Given the description of an element on the screen output the (x, y) to click on. 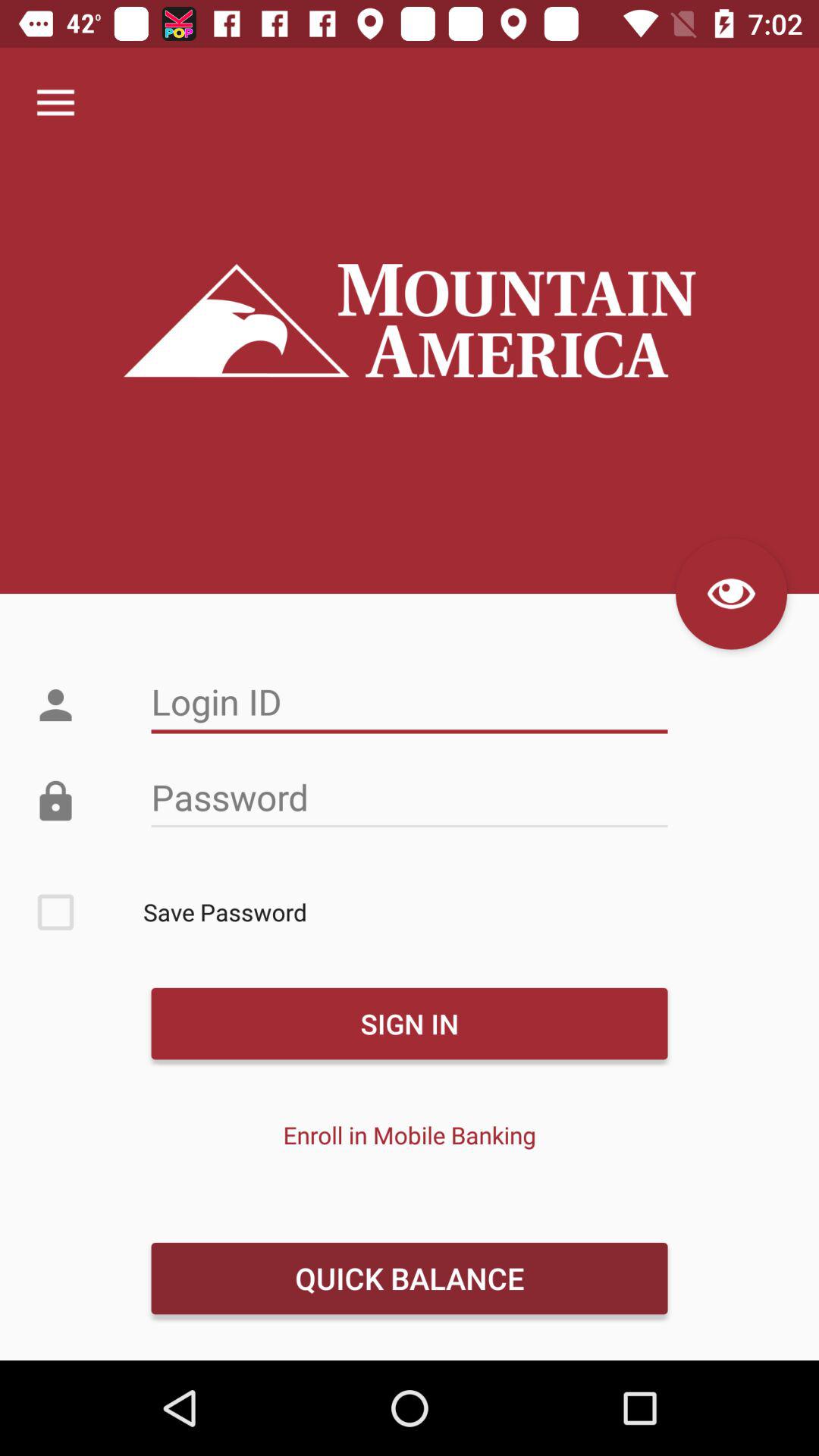
press the enroll in mobile item (409, 1134)
